Given the description of an element on the screen output the (x, y) to click on. 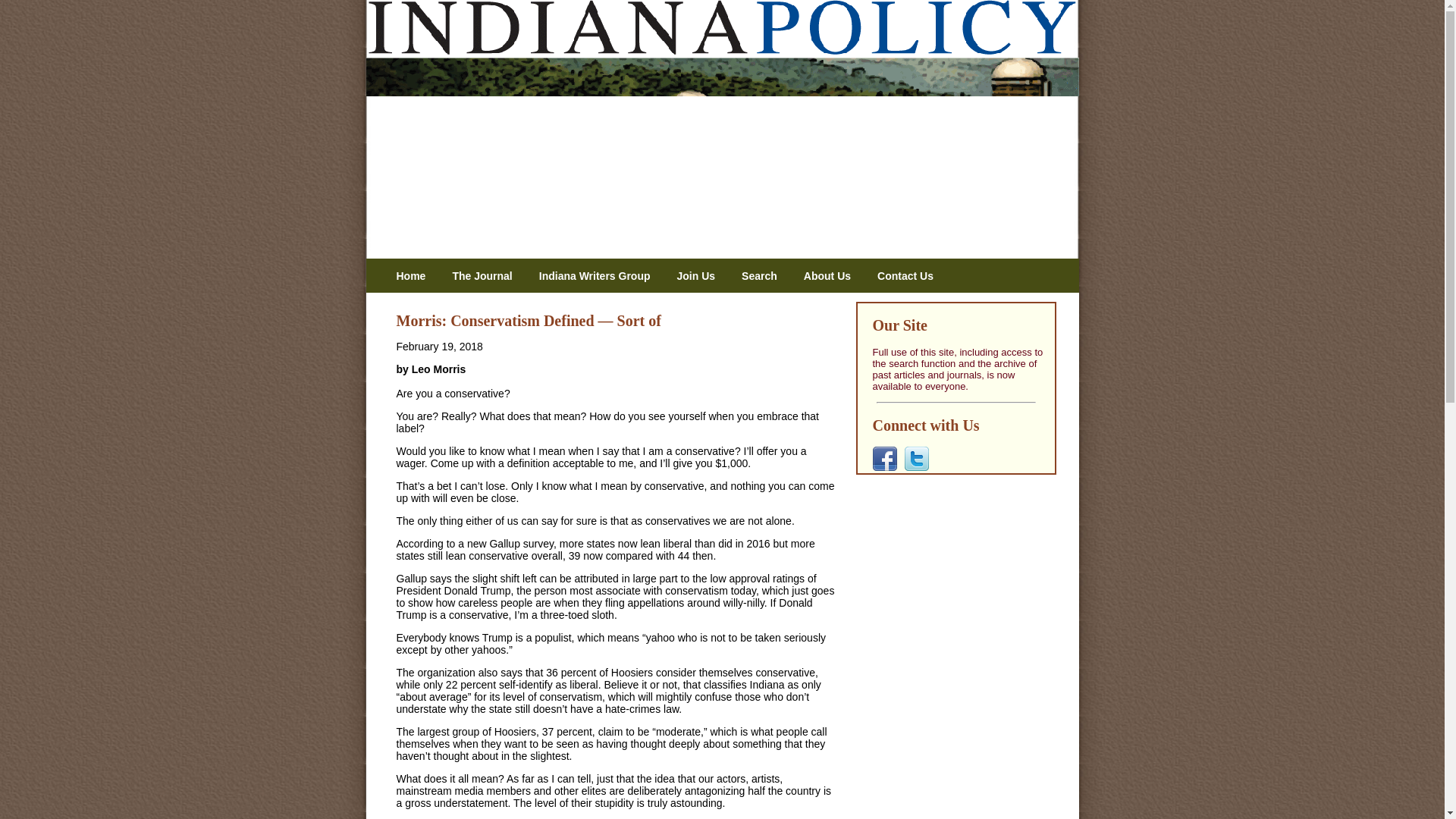
Home (416, 275)
About Us (832, 275)
Indiana Writers Group (600, 275)
Join Us (701, 275)
The Journal (486, 275)
Search (765, 275)
Contact Us (910, 275)
